Given the description of an element on the screen output the (x, y) to click on. 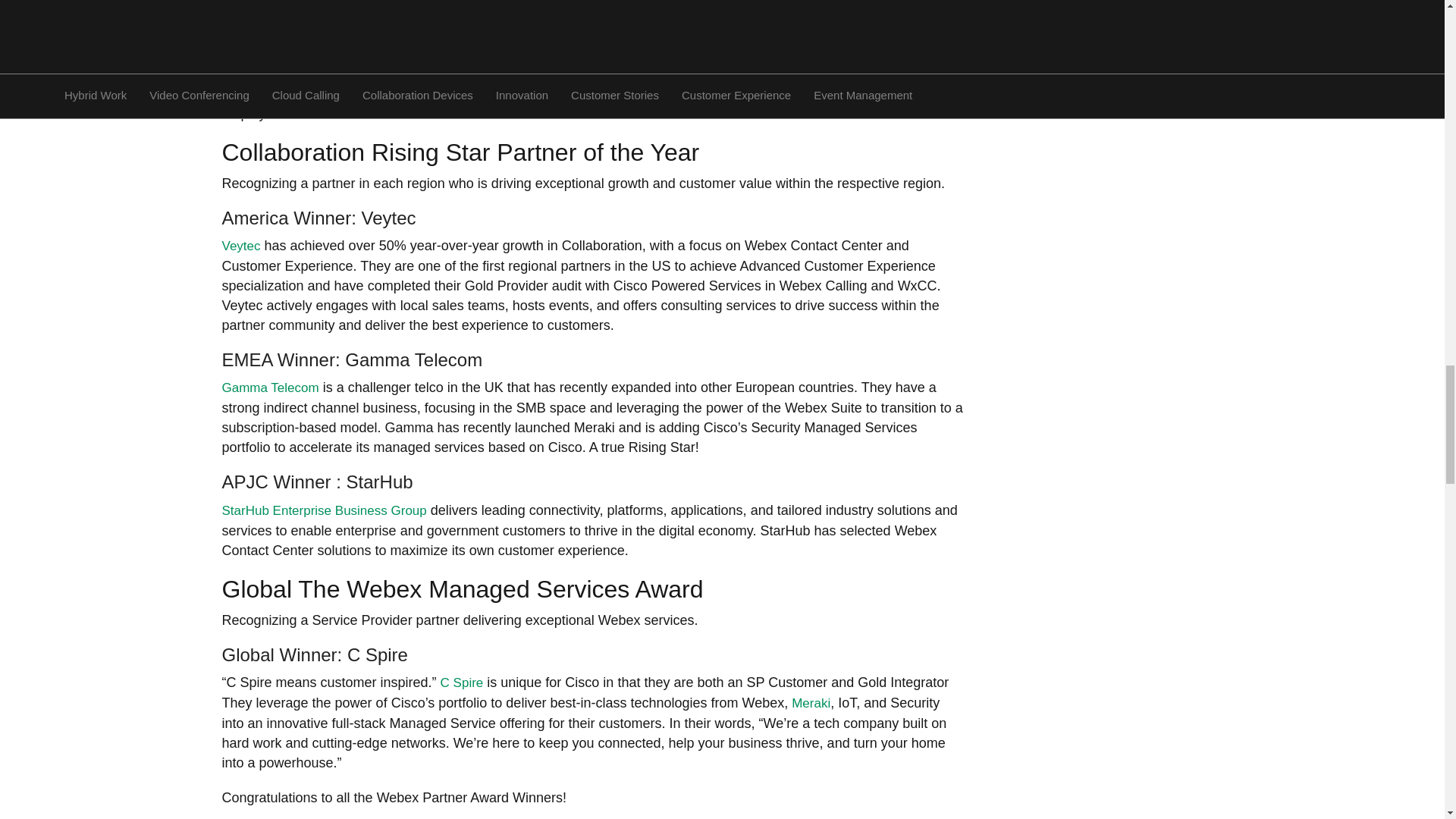
Meraki (810, 703)
C Spire (462, 682)
StarHub Enterprise Business Group (323, 510)
Veytec (240, 246)
Gamma Telecom (269, 387)
Webex Contact Centers (542, 14)
Servion (242, 14)
Servion (242, 14)
